Given the description of an element on the screen output the (x, y) to click on. 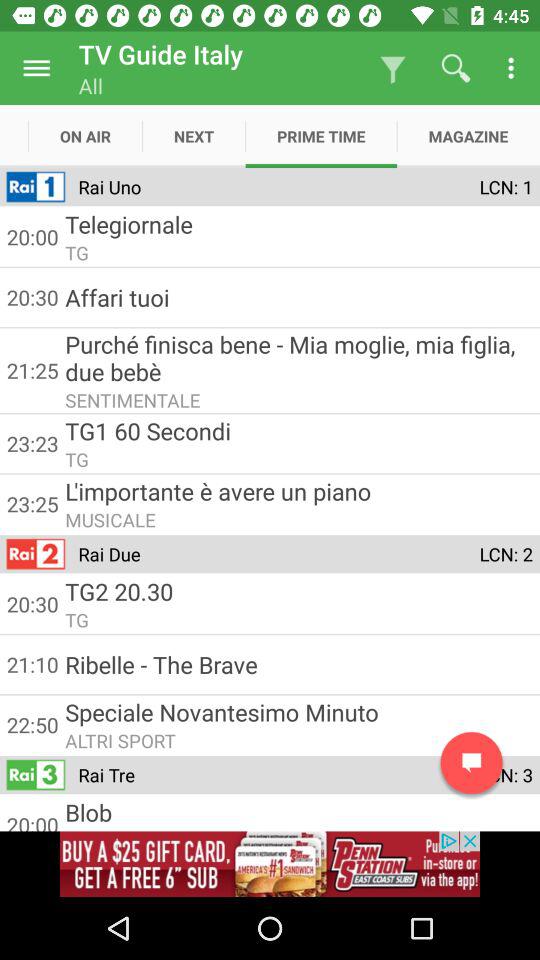
show text chat (471, 762)
